Given the description of an element on the screen output the (x, y) to click on. 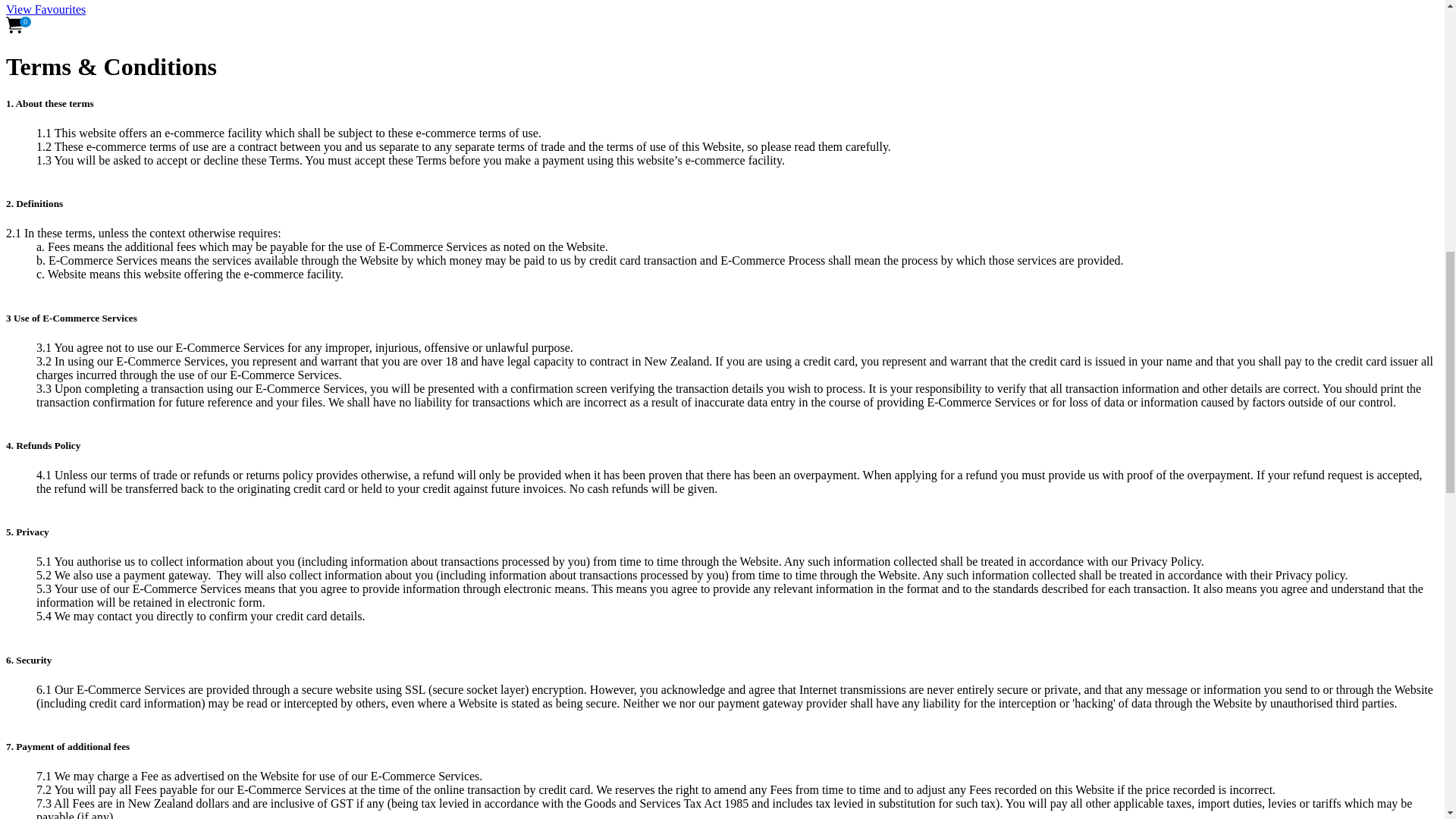
Login (14, 1)
View Favourites (45, 9)
